Given the description of an element on the screen output the (x, y) to click on. 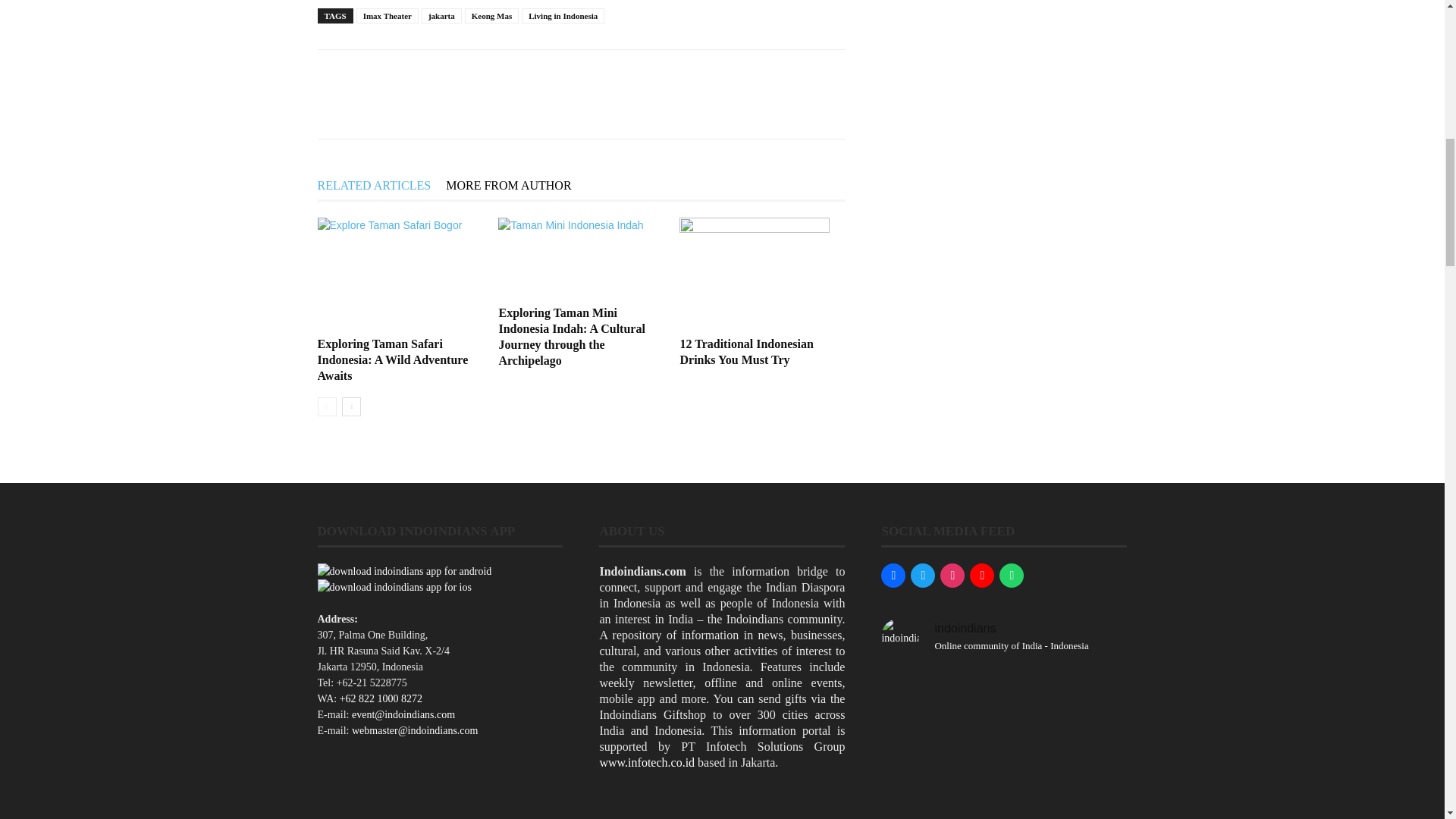
bottomFacebookLike (430, 73)
